Given the description of an element on the screen output the (x, y) to click on. 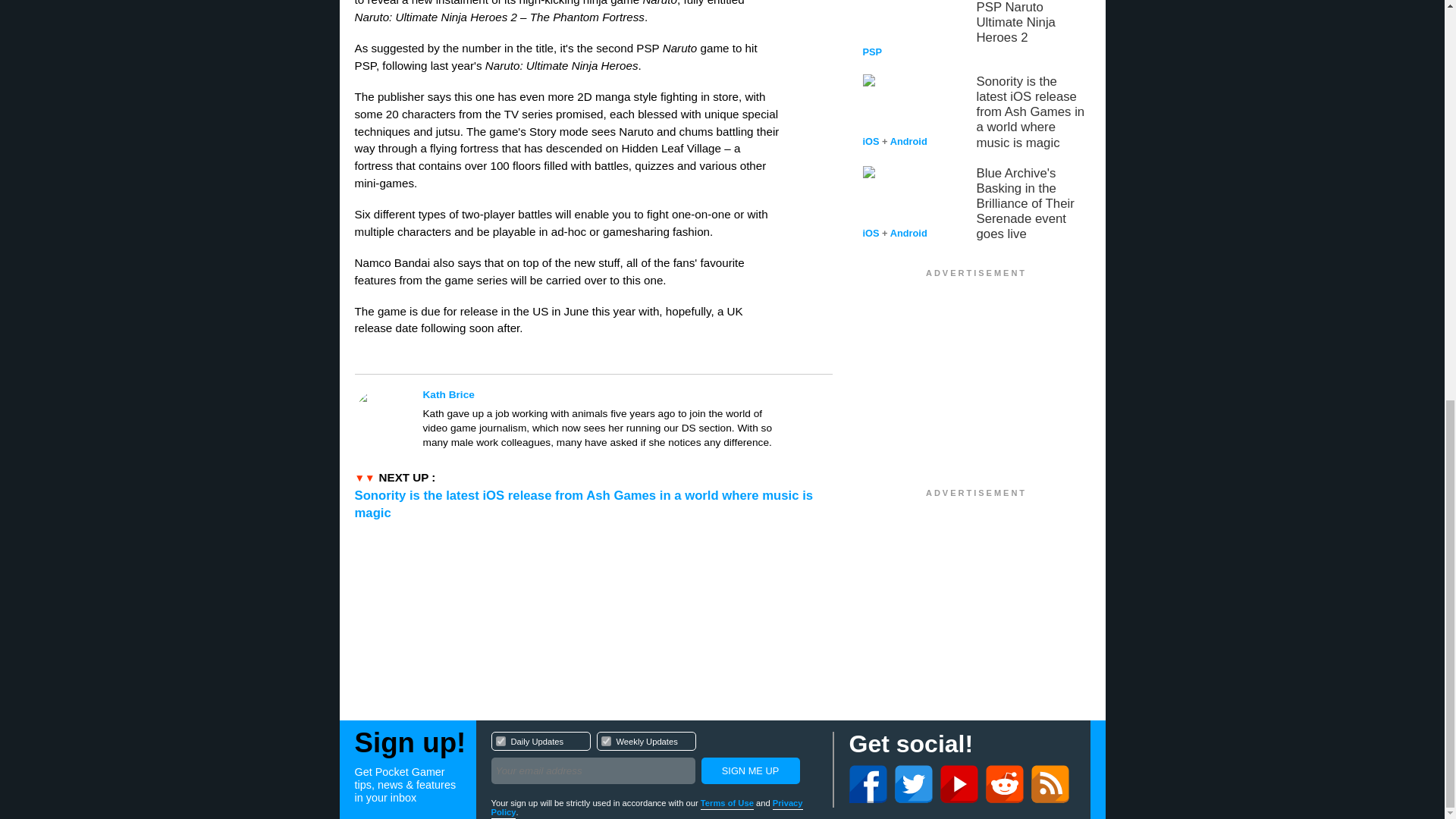
1 (654, 759)
2 (500, 741)
Sign Me Up (976, 29)
Sign Me Up (604, 741)
Terms of Use (749, 770)
Kath Brice (749, 770)
